Given the description of an element on the screen output the (x, y) to click on. 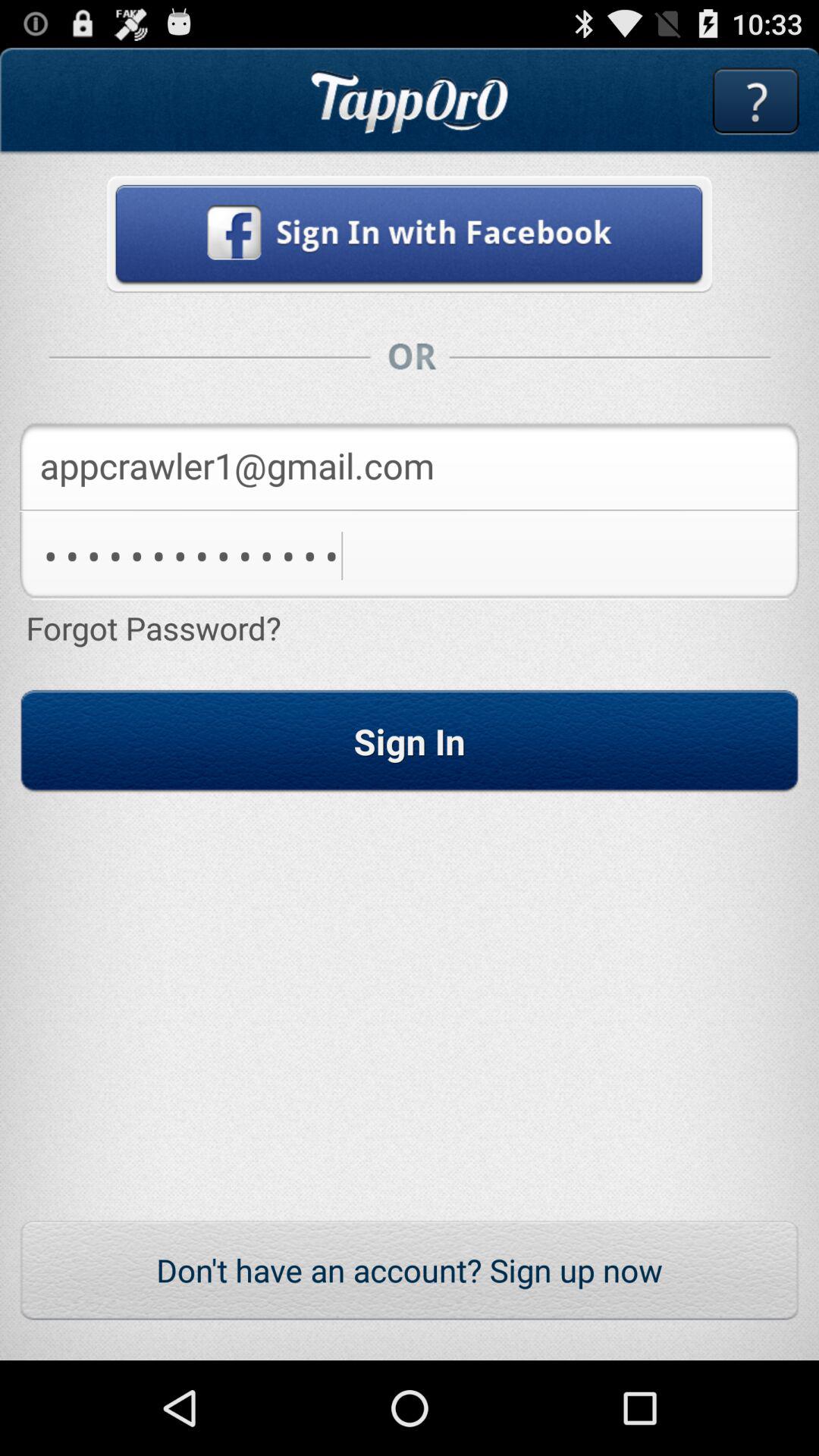
help (755, 101)
